Given the description of an element on the screen output the (x, y) to click on. 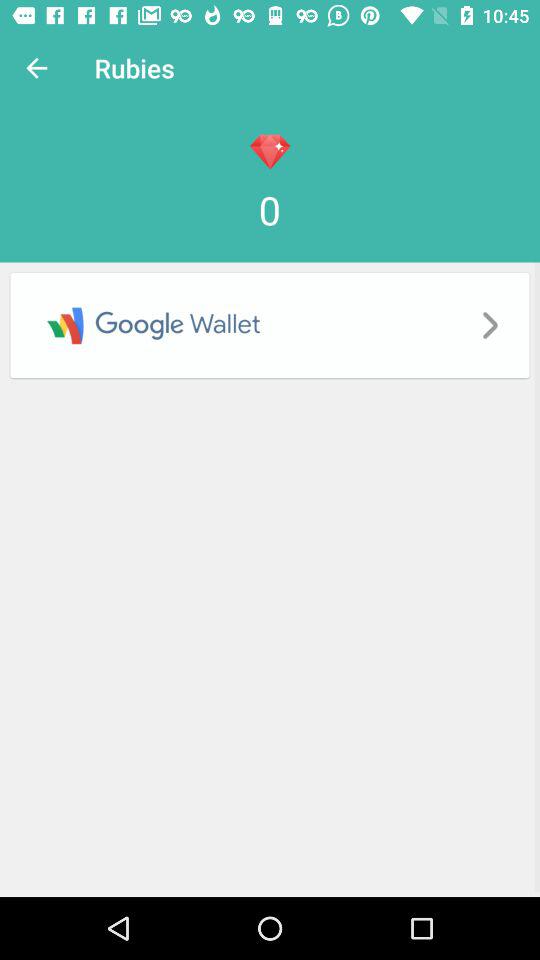
select item next to the rubies icon (36, 68)
